Given the description of an element on the screen output the (x, y) to click on. 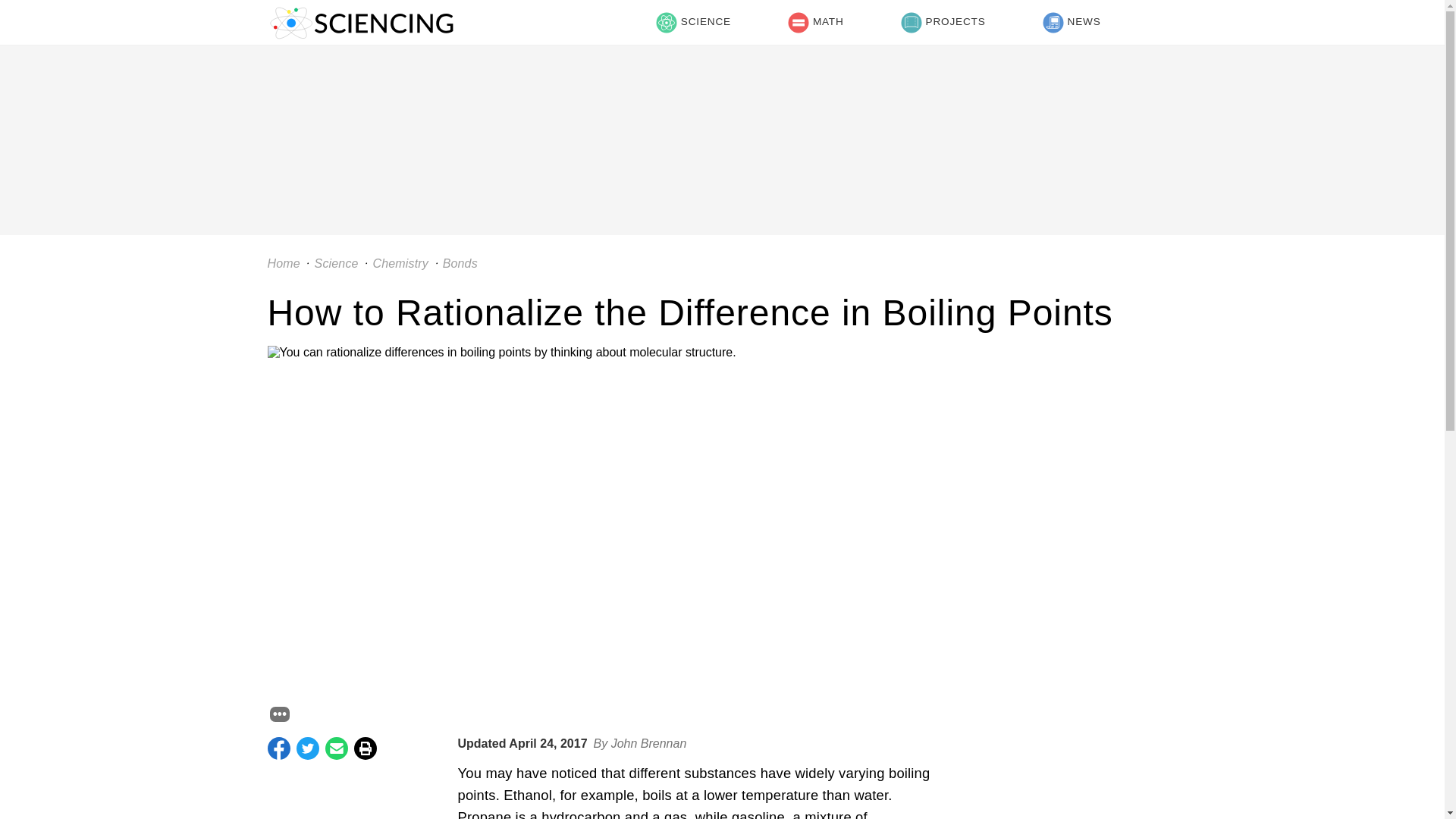
SCIENCE (692, 22)
MATH (814, 22)
